Given the description of an element on the screen output the (x, y) to click on. 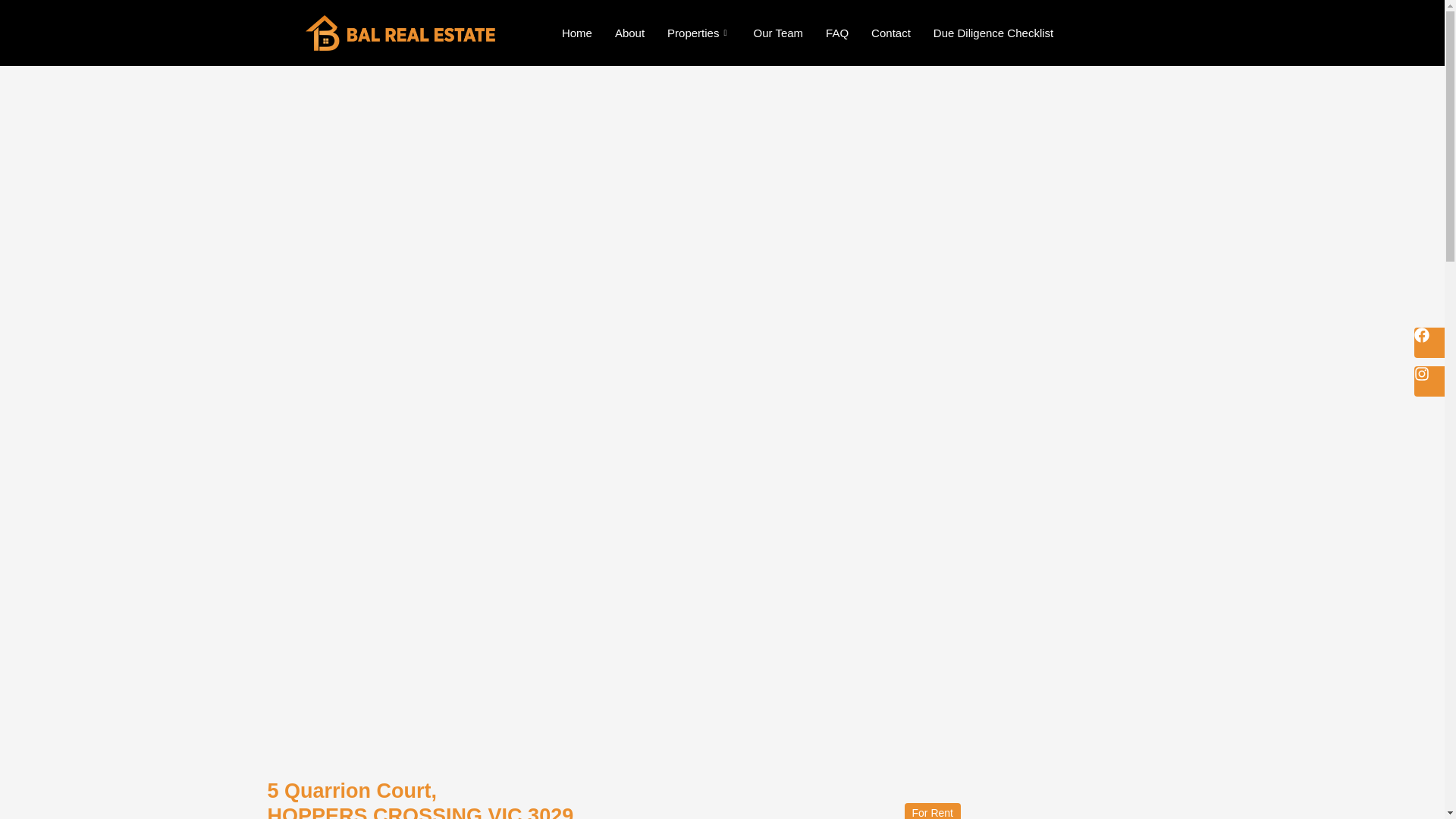
About (630, 33)
Due Diligence Checklist (992, 33)
Home (577, 33)
Contact (890, 33)
Properties (698, 33)
Our Team (777, 33)
FAQ (836, 33)
